Given the description of an element on the screen output the (x, y) to click on. 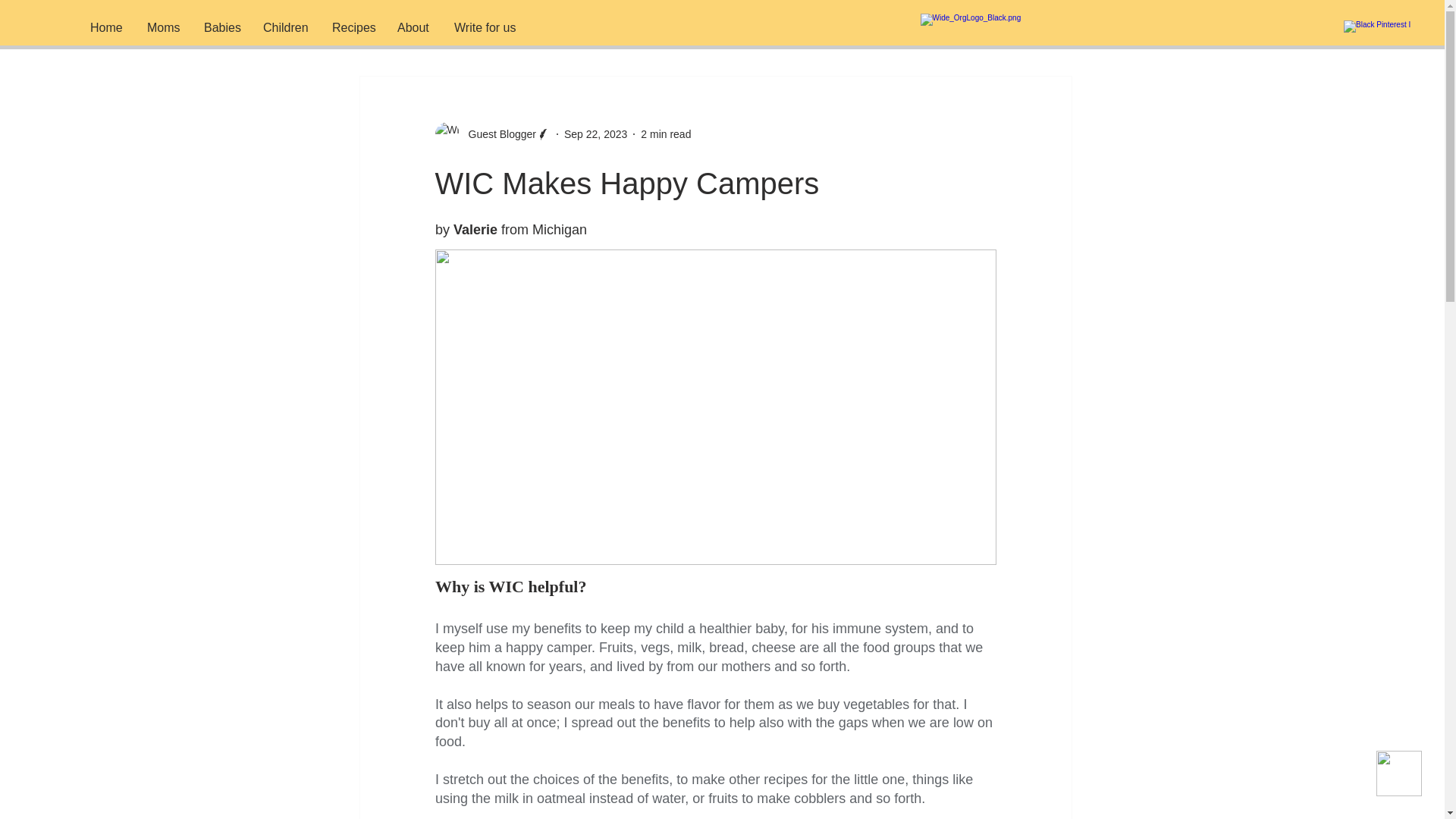
Write for us (484, 27)
Blogger Opportunities (752, 29)
2 min read (665, 133)
Babies (510, 29)
Home (106, 27)
Children (285, 27)
Sep 22, 2023 (595, 133)
Recipes (648, 29)
Children (577, 29)
Moms (163, 27)
